Given the description of an element on the screen output the (x, y) to click on. 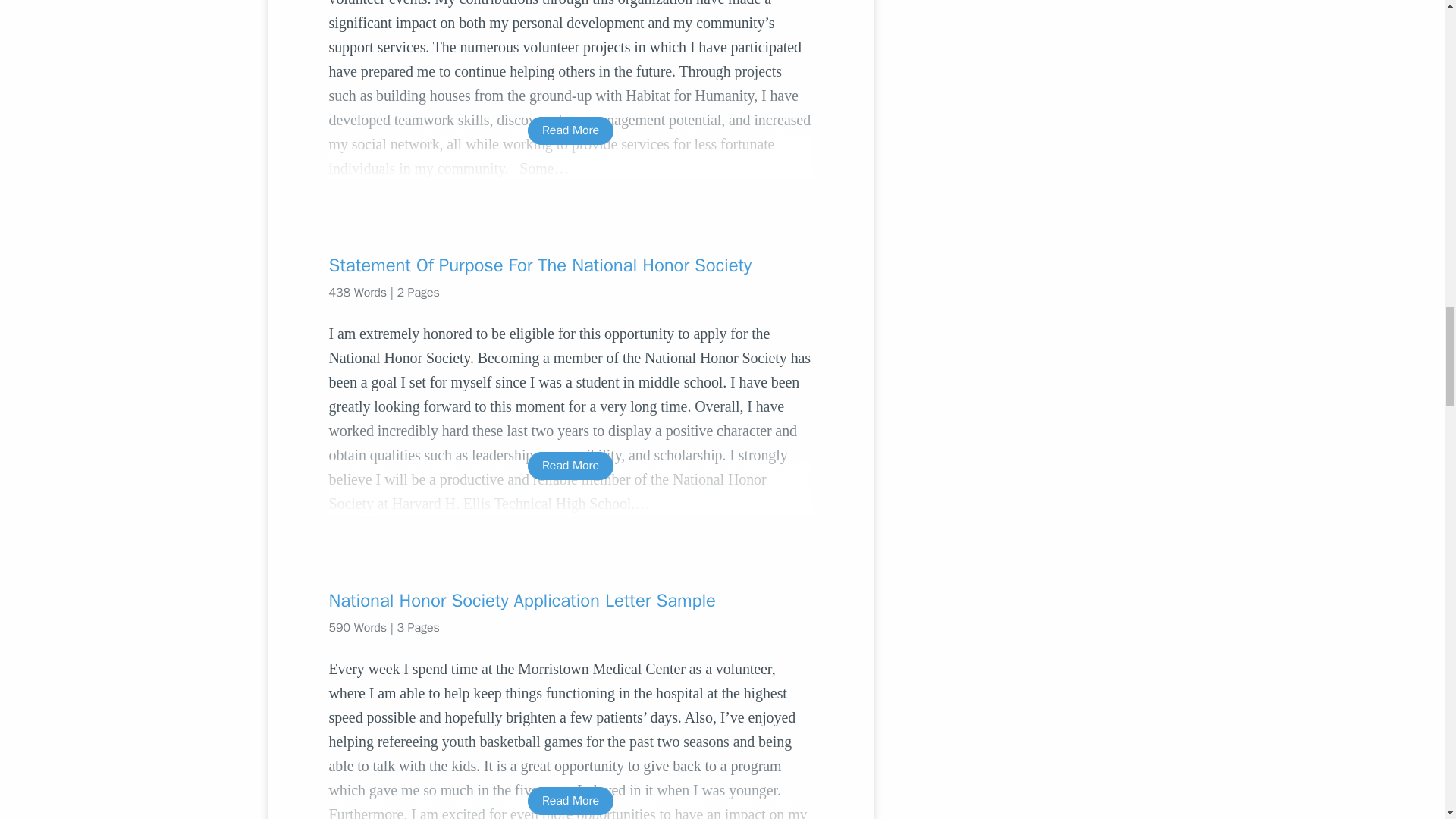
National Honor Society Application Letter Sample (570, 600)
Read More (569, 465)
Read More (569, 800)
Statement Of Purpose For The National Honor Society (570, 265)
Read More (569, 130)
